Given the description of an element on the screen output the (x, y) to click on. 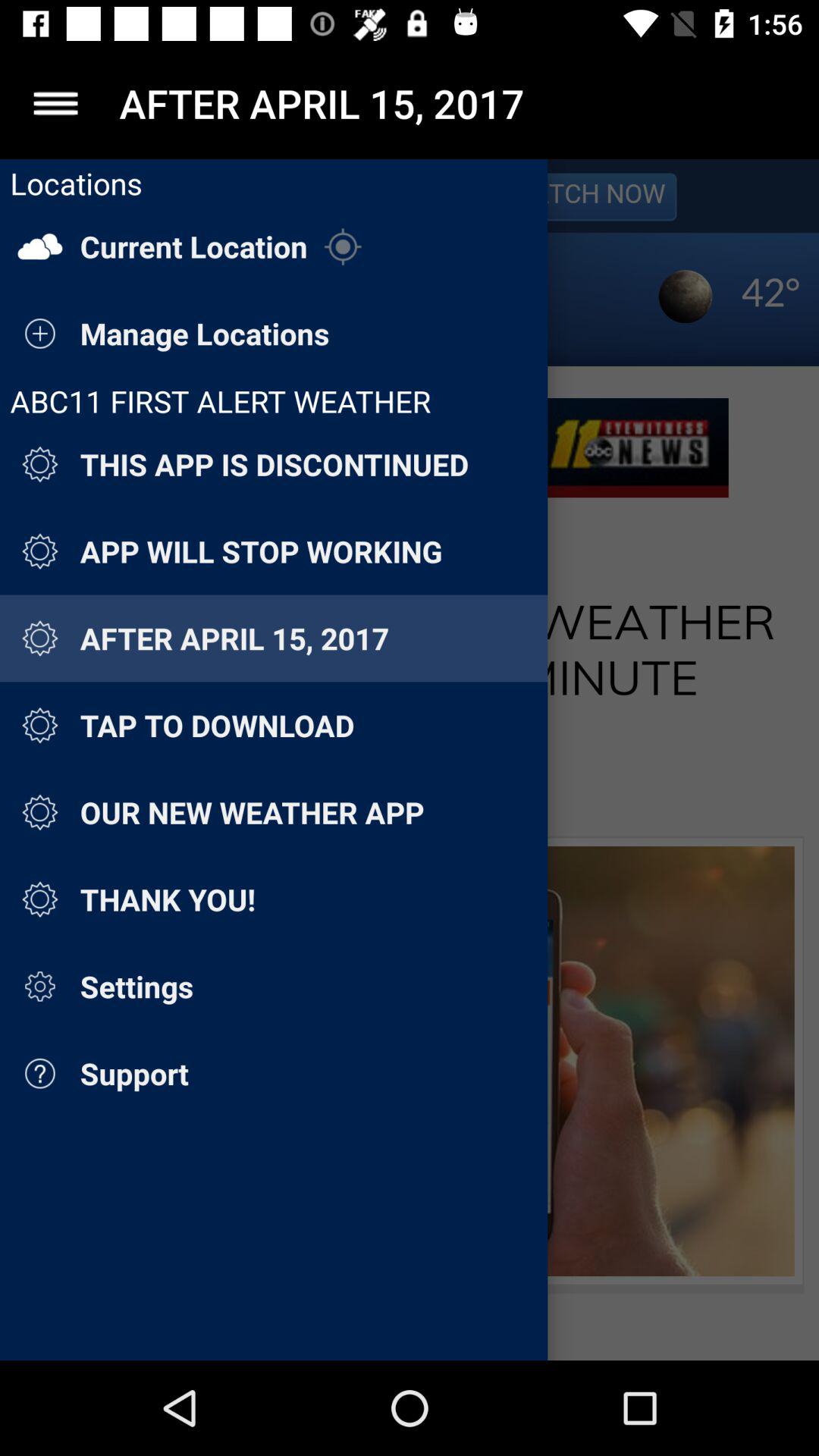
close context menu (55, 103)
